Given the description of an element on the screen output the (x, y) to click on. 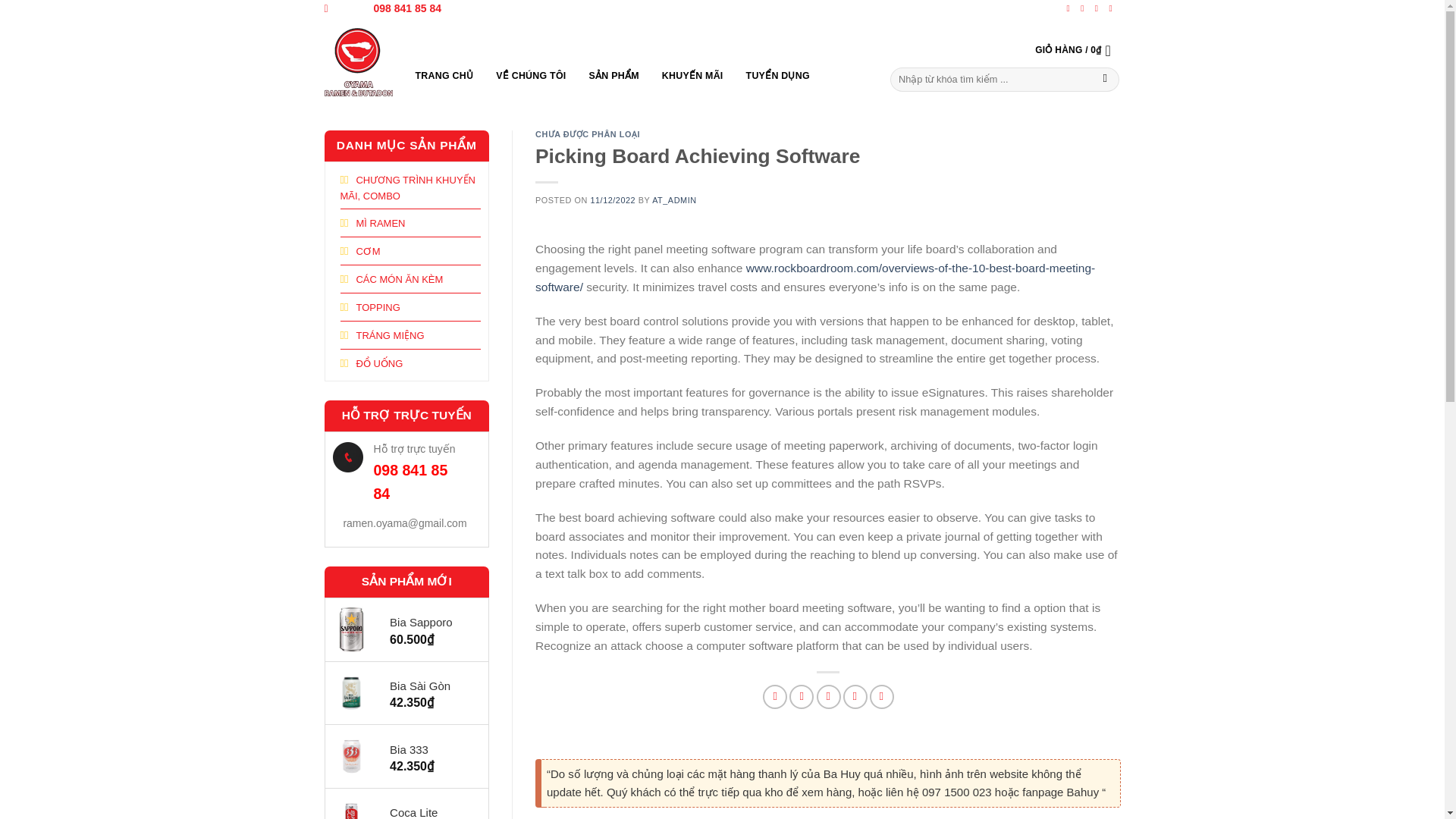
TOPPING (368, 307)
Bia 333 (430, 750)
Coca Lite (430, 811)
Bia Sapporo (430, 622)
